Given the description of an element on the screen output the (x, y) to click on. 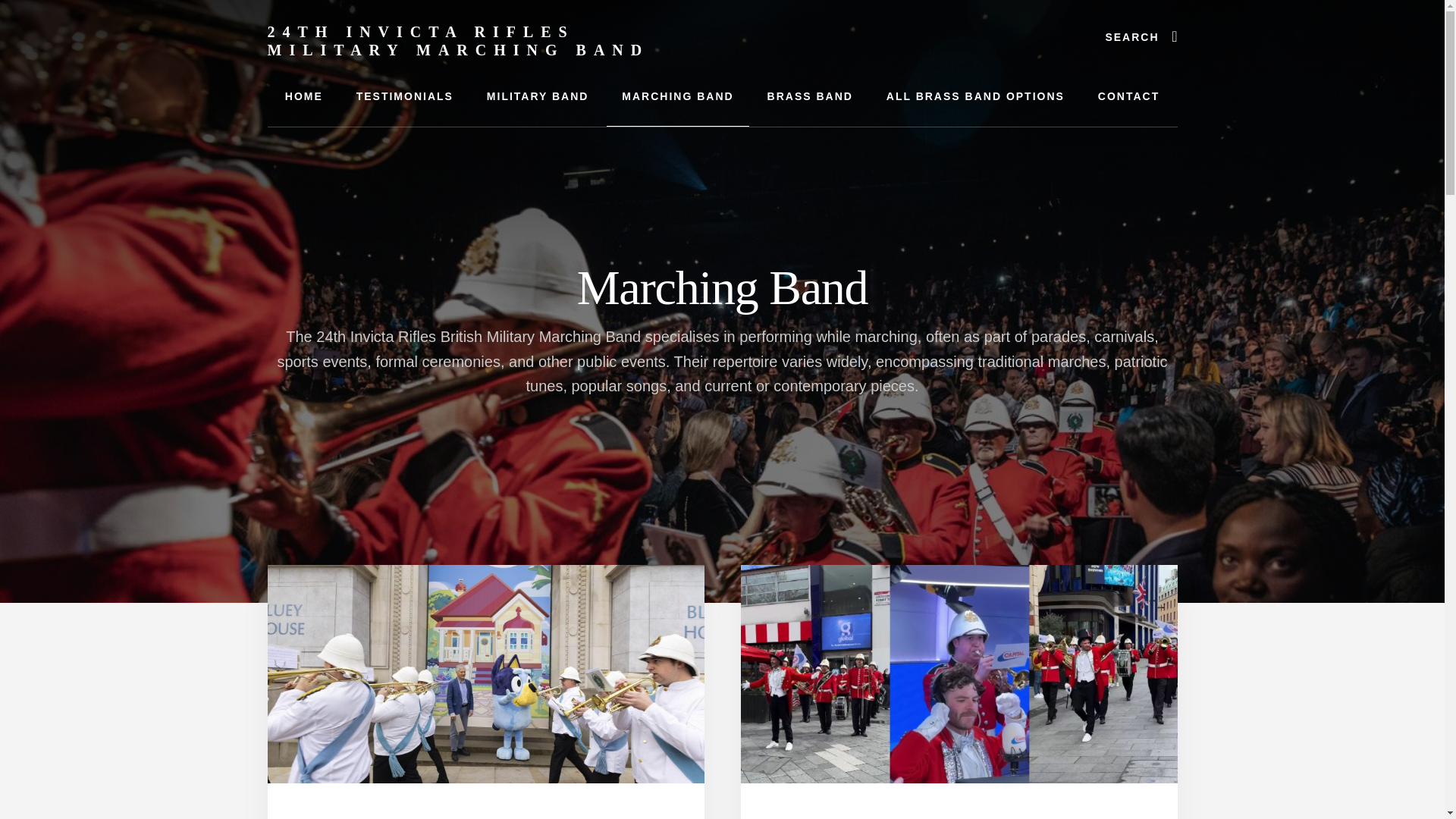
BRASS BAND (809, 96)
TESTIMONIALS (404, 96)
ALL BRASS BAND OPTIONS (975, 96)
24TH INVICTA RIFLES MILITARY MARCHING BAND (457, 40)
CONTACT (1128, 96)
MILITARY BAND (537, 96)
MARCHING BAND (677, 96)
HOME (303, 96)
